Given the description of an element on the screen output the (x, y) to click on. 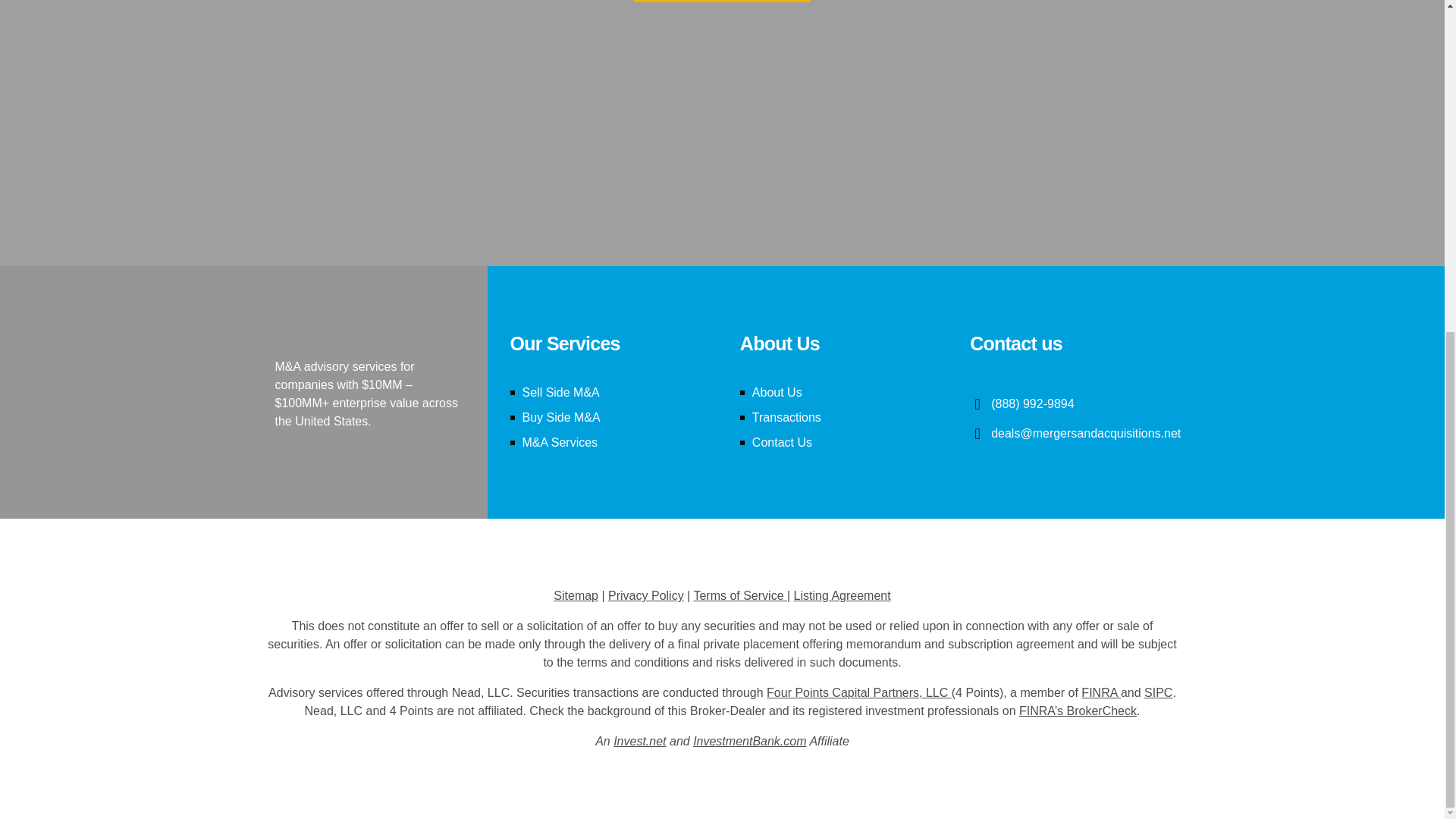
Privacy Policy (646, 594)
Sitemap (575, 594)
Transactions (786, 417)
Go back to homepage (721, 1)
InvestmentBank.com (749, 740)
About Us (777, 391)
Four Points Capital Partners, LLC (857, 692)
FINRA (1098, 692)
Listing Agreement (842, 594)
Terms of Service (738, 594)
Invest.net (638, 740)
SIPC (1158, 692)
Contact Us (782, 441)
